Given the description of an element on the screen output the (x, y) to click on. 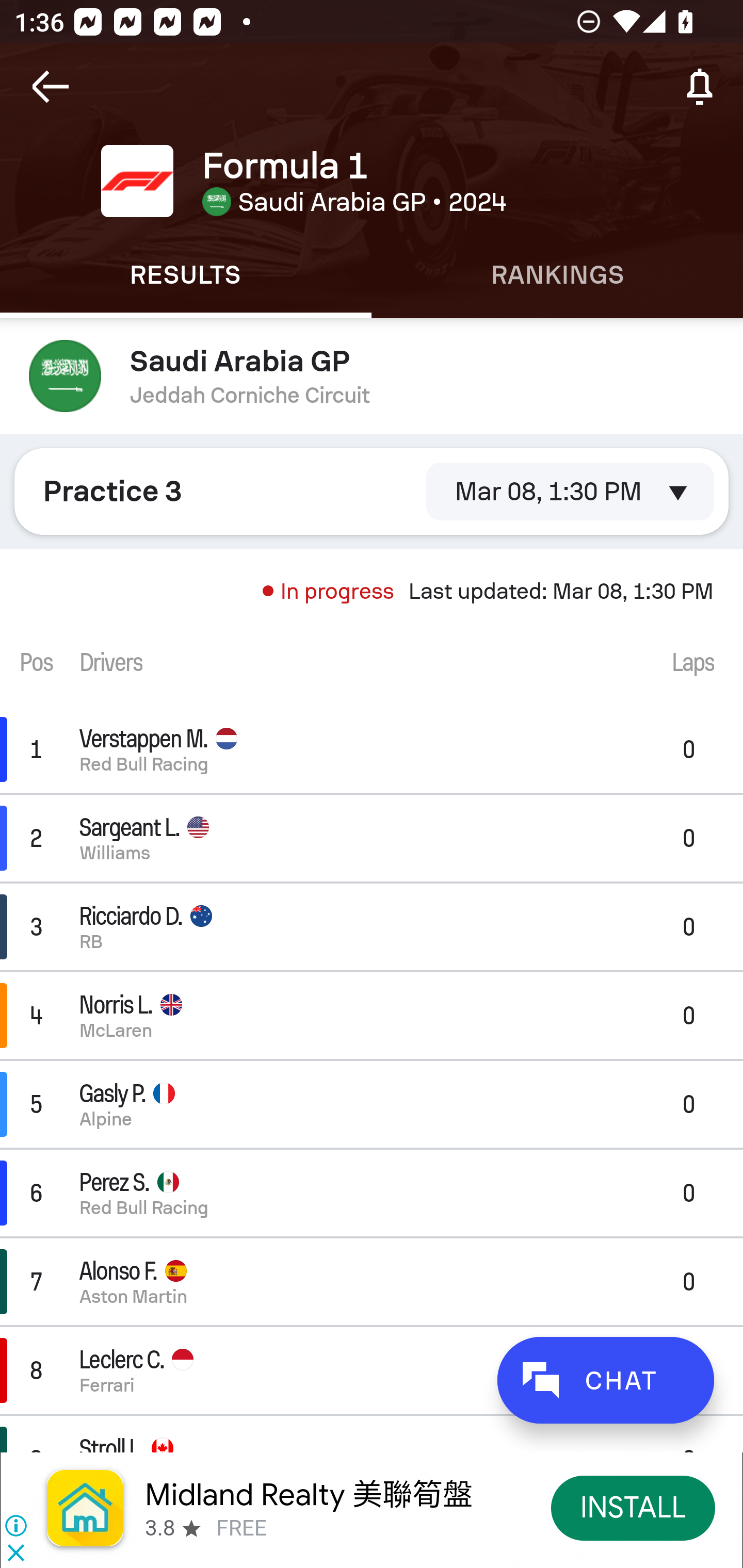
Navigate up (50, 86)
Rankings RANKINGS (557, 275)
Practice 3 Mar 08, 1:30 PM (371, 491)
Mar 08, 1:30 PM (570, 491)
1 Verstappen M. Red Bull Racing 0 (371, 749)
2 Sargeant L. Williams 0 (371, 837)
3 Ricciardo D. RB 0 (371, 926)
4 Norris L. McLaren 0 (371, 1015)
5 Gasly P. Alpine 0 (371, 1104)
6 Perez S. Red Bull Racing 0 (371, 1192)
7 Alonso F. Aston Martin 0 (371, 1281)
CHAT (605, 1380)
Midland Realty 美聯筍盤 (308, 1493)
INSTALL (632, 1507)
